Given the description of an element on the screen output the (x, y) to click on. 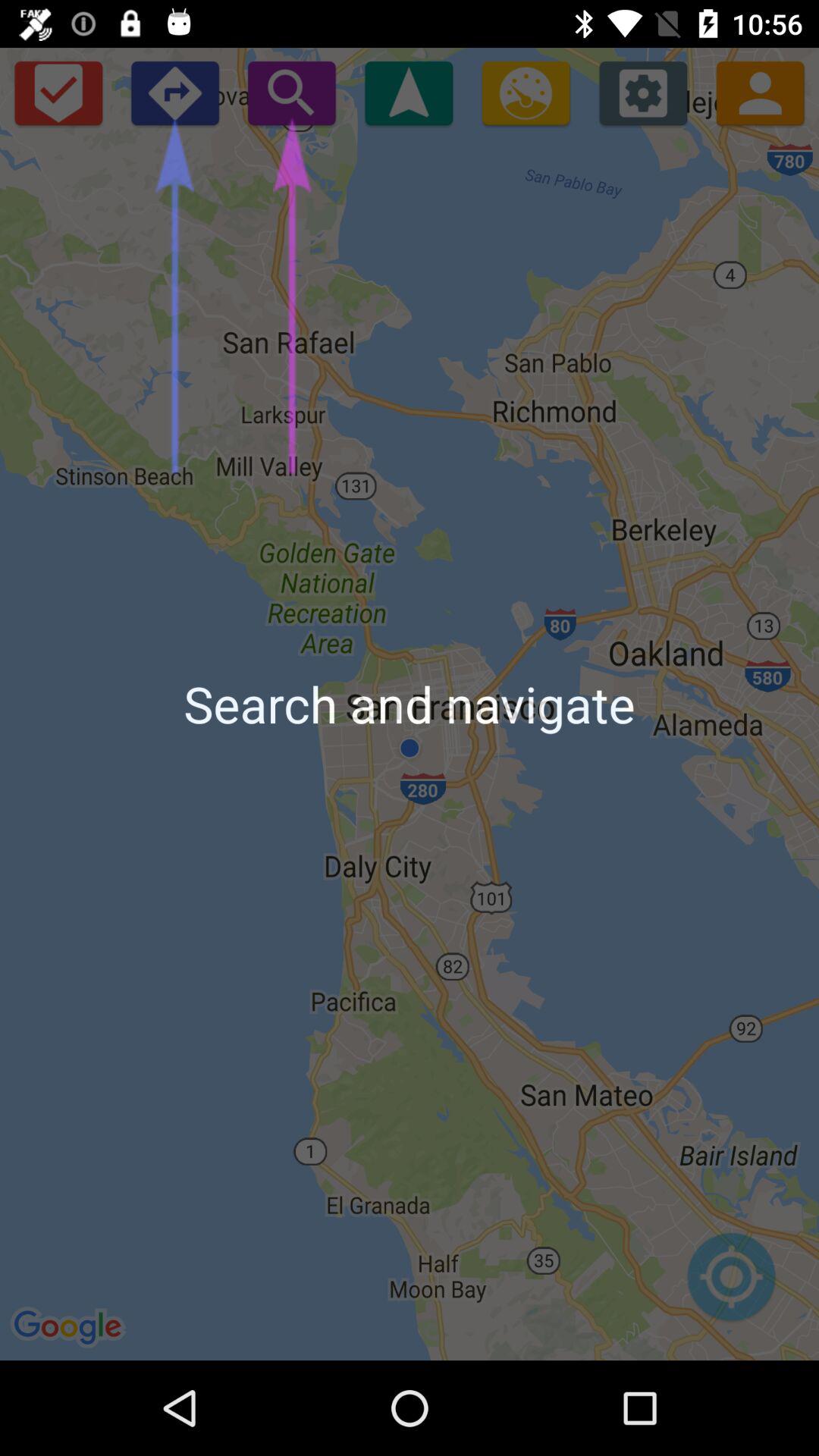
launch the app above search and navigate app (408, 92)
